Given the description of an element on the screen output the (x, y) to click on. 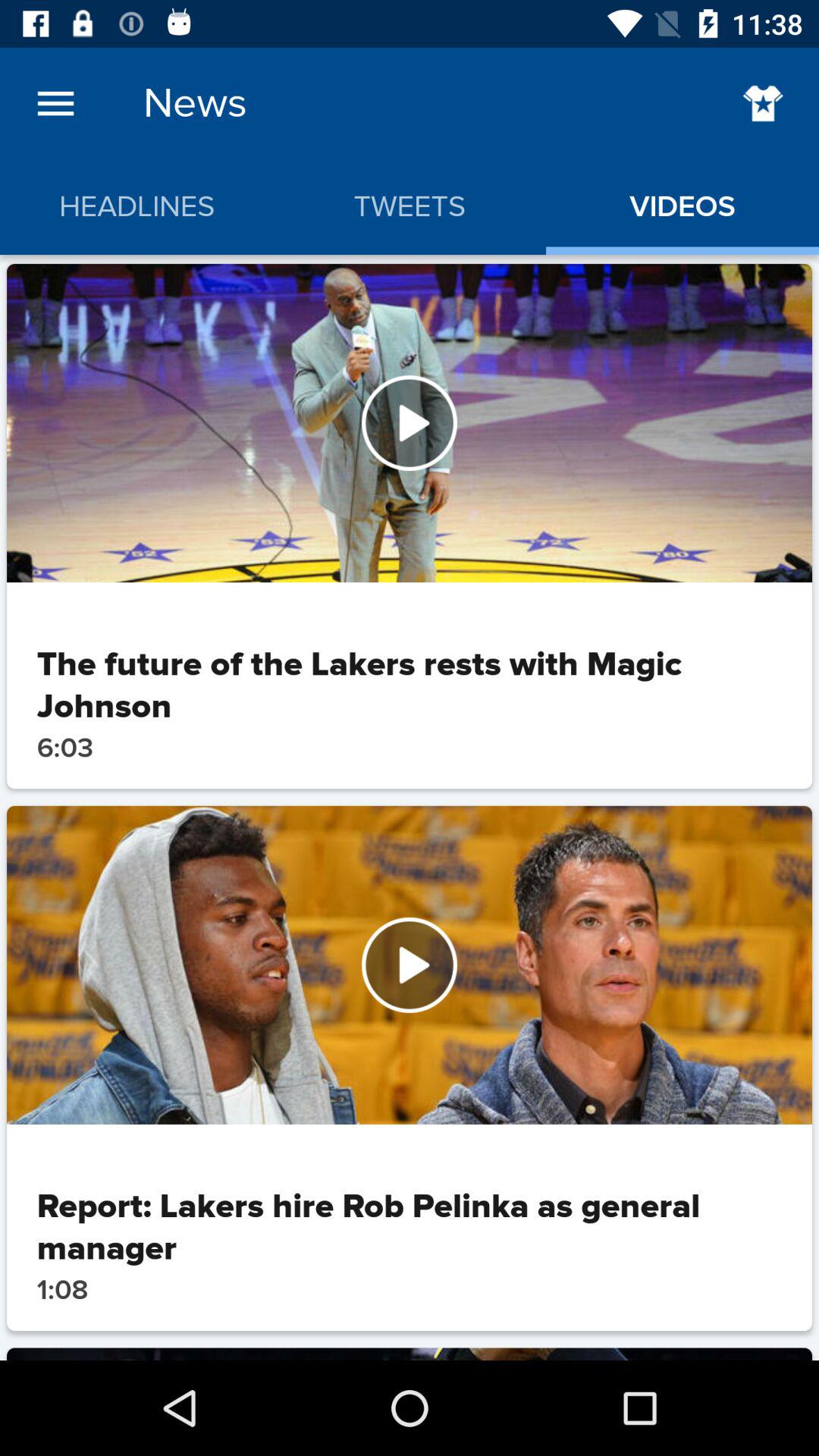
watch video (409, 964)
